Given the description of an element on the screen output the (x, y) to click on. 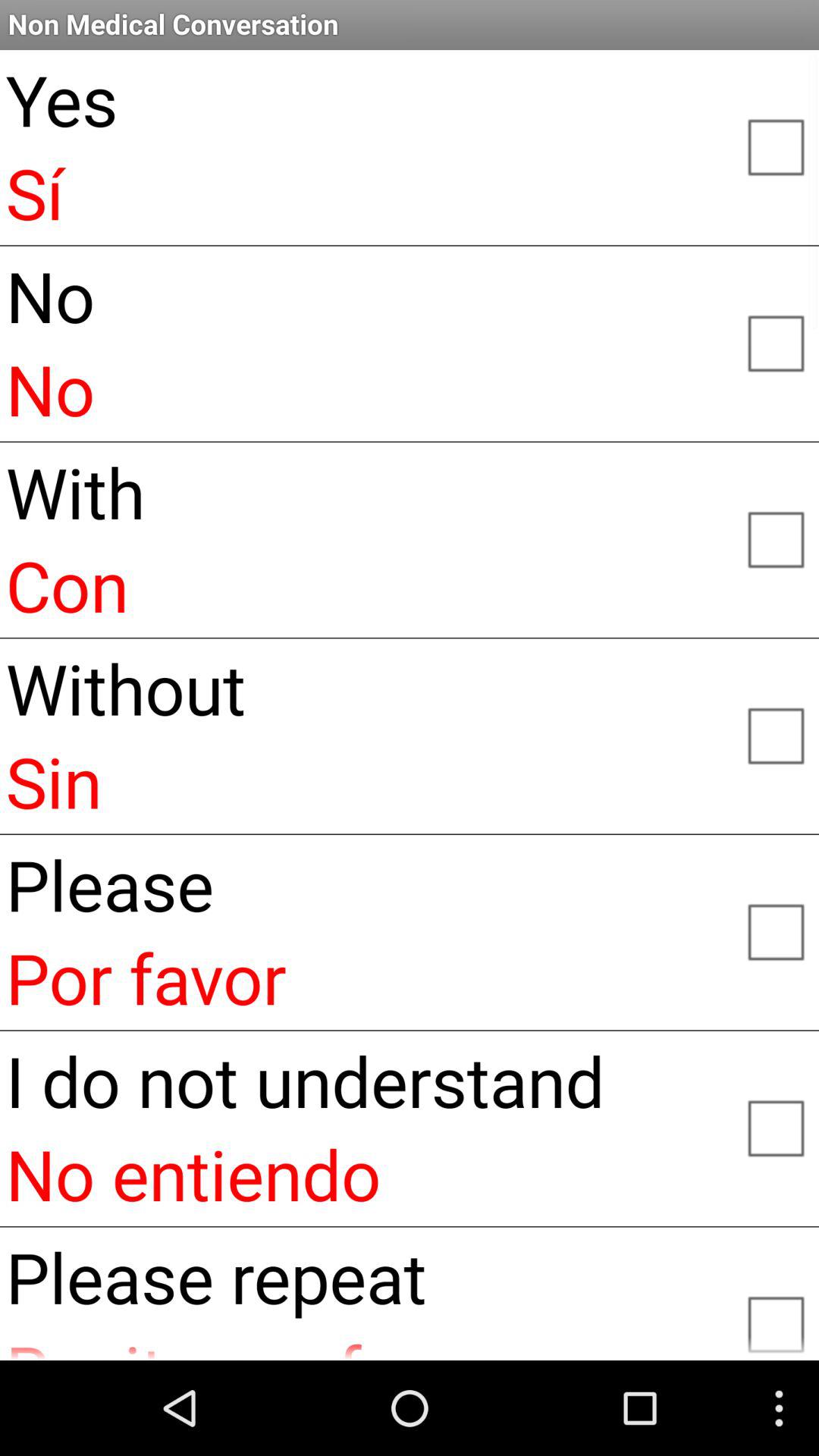
select phrase (775, 1317)
